Given the description of an element on the screen output the (x, y) to click on. 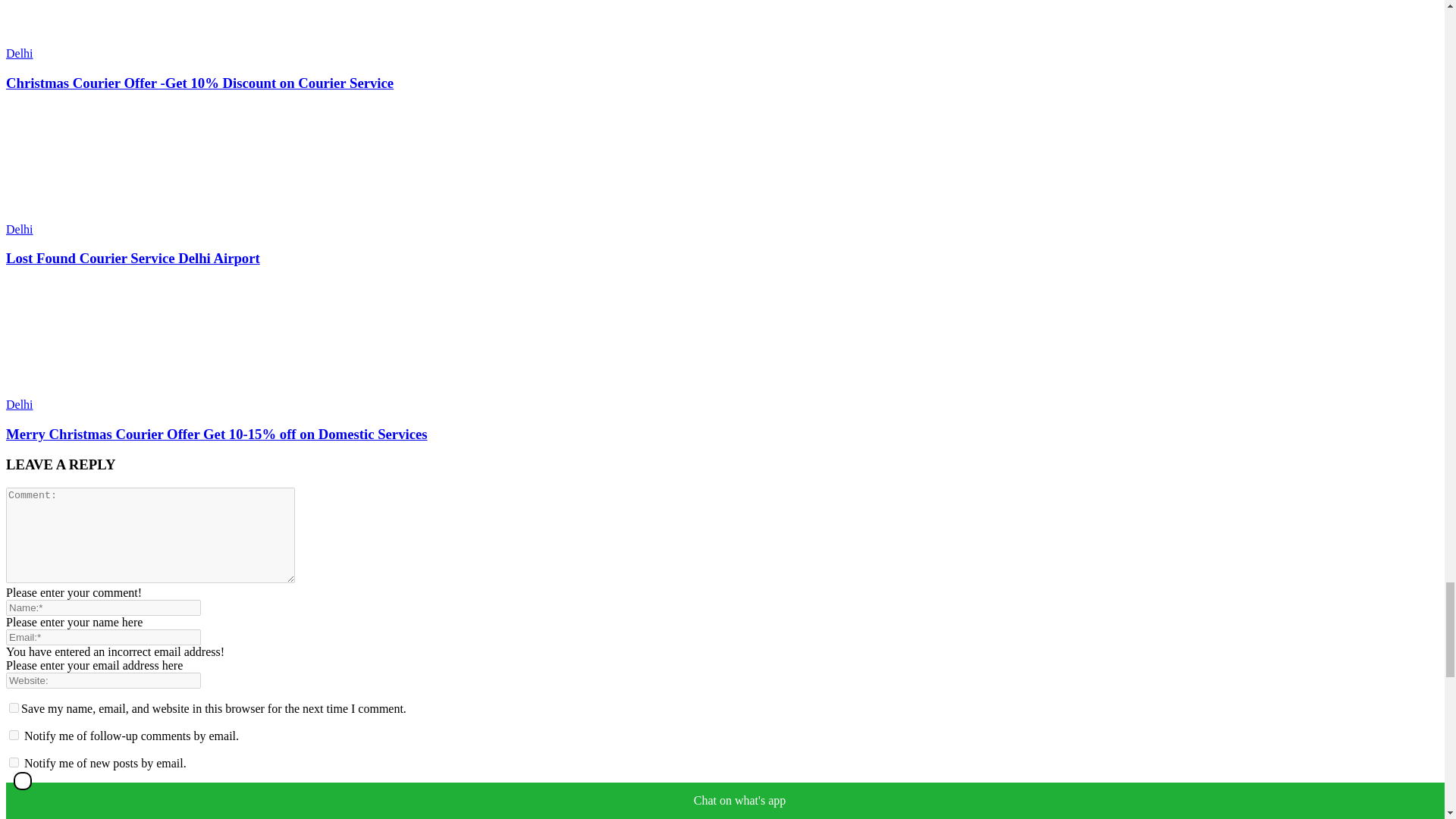
subscribe (13, 735)
subscribe (13, 762)
Post Comment (44, 790)
Search (161, 814)
yes (13, 707)
